Given the description of an element on the screen output the (x, y) to click on. 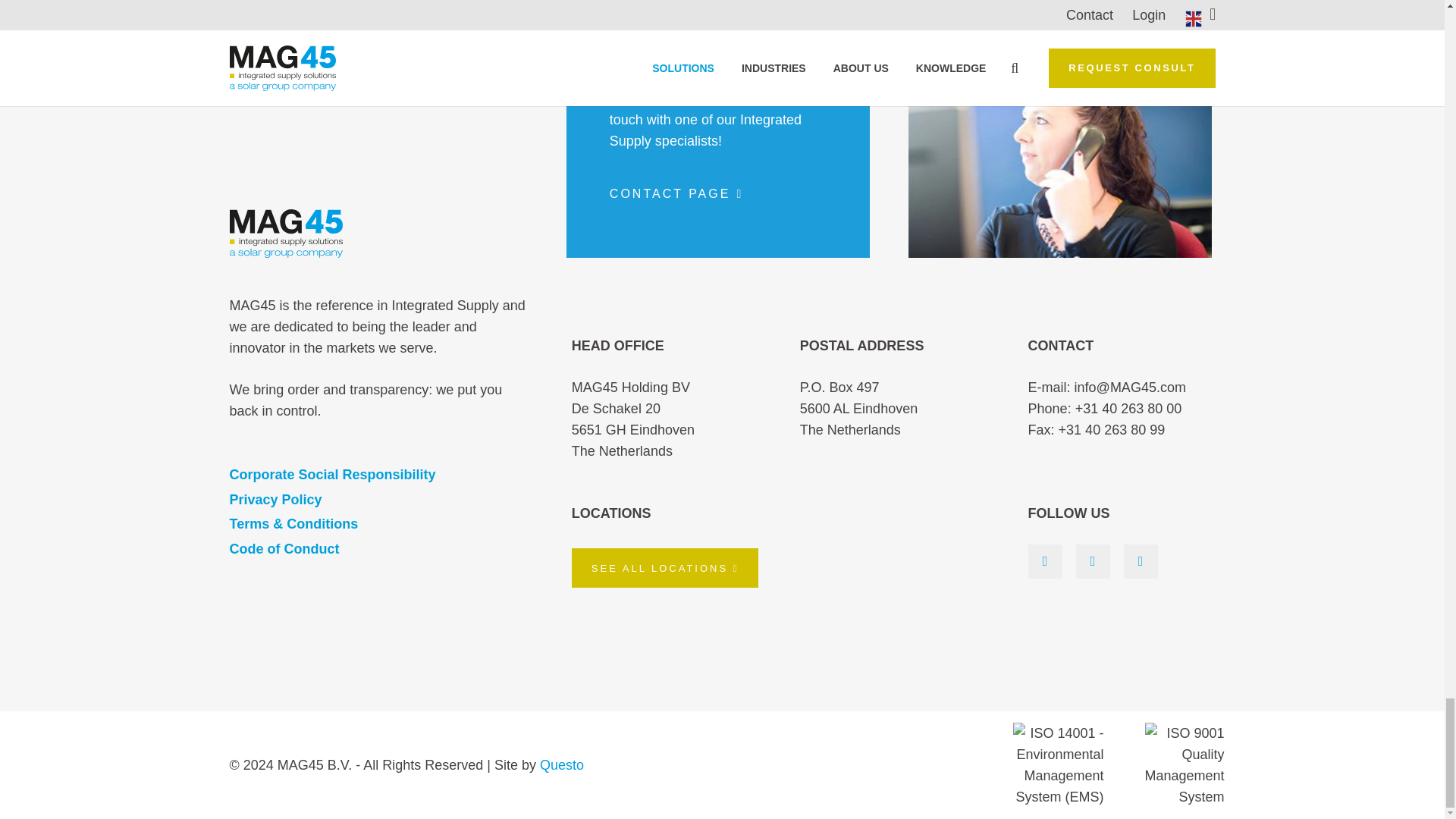
Contact (676, 193)
YouTube (1092, 561)
Facebook (1140, 561)
LinkedIn (1044, 561)
